Given the description of an element on the screen output the (x, y) to click on. 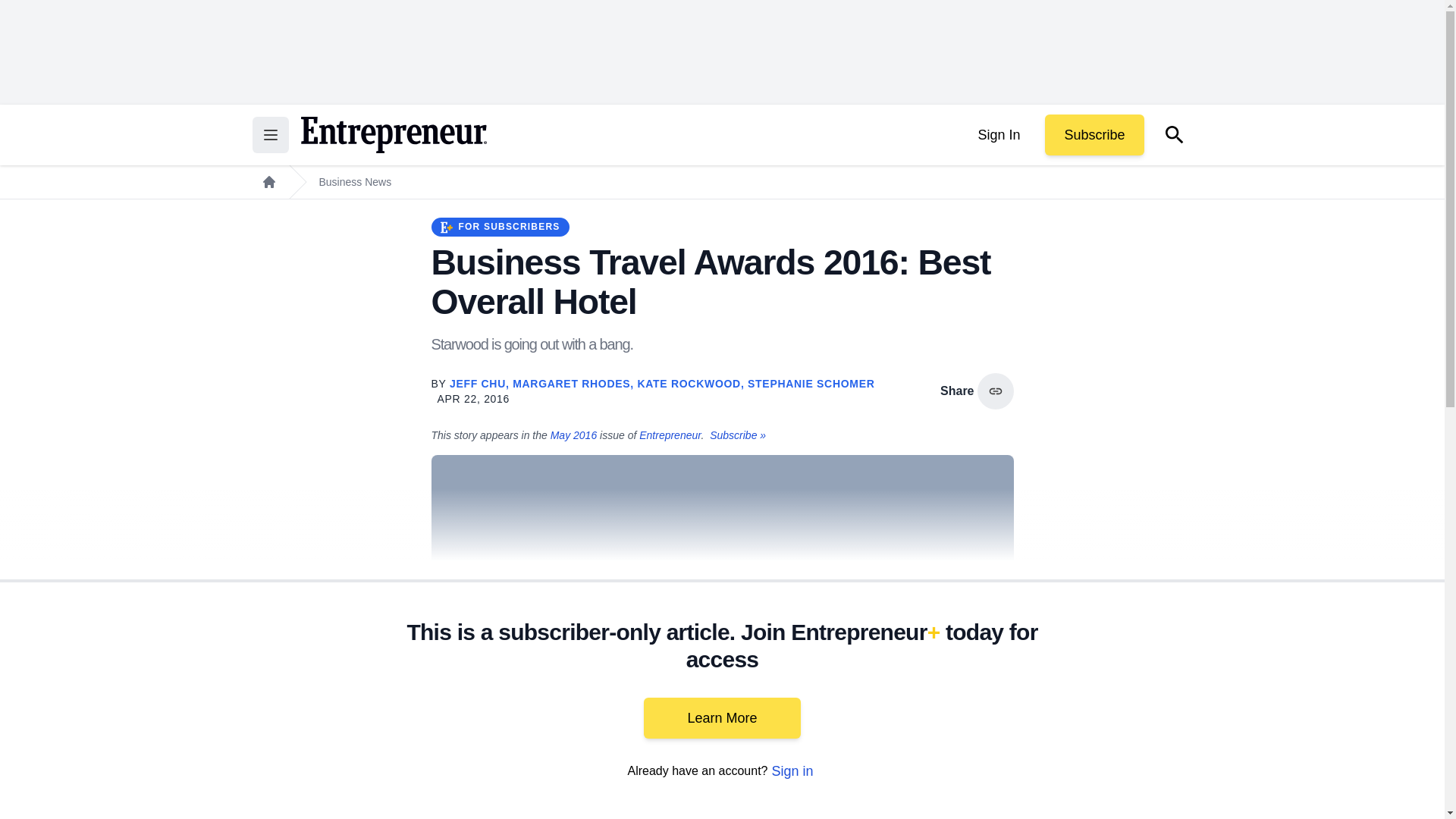
Subscribe (1093, 134)
Return to the home page (392, 135)
copy (994, 391)
Sign In (998, 134)
